Given the description of an element on the screen output the (x, y) to click on. 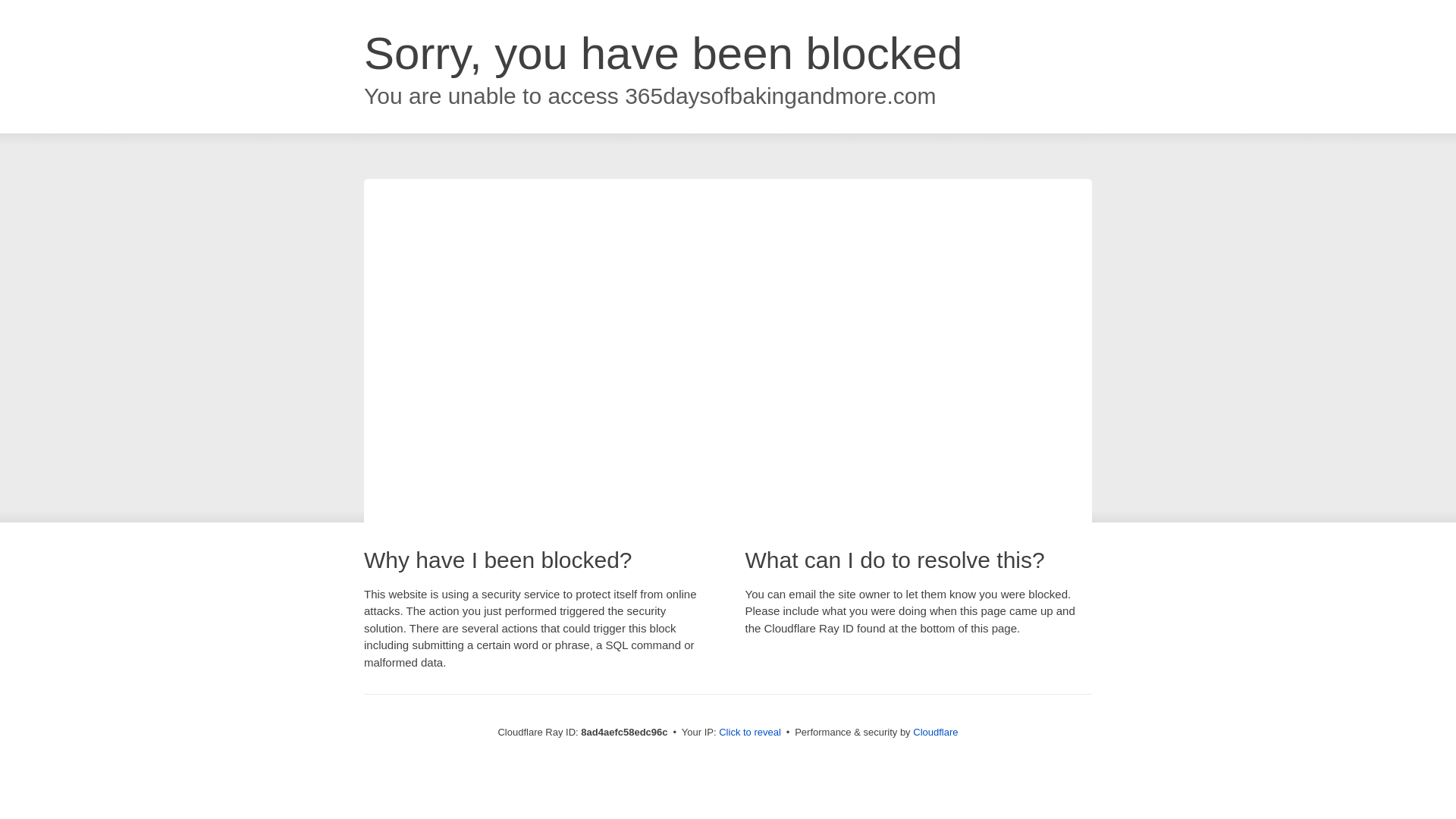
Click to reveal (749, 732)
Cloudflare (935, 731)
